Given the description of an element on the screen output the (x, y) to click on. 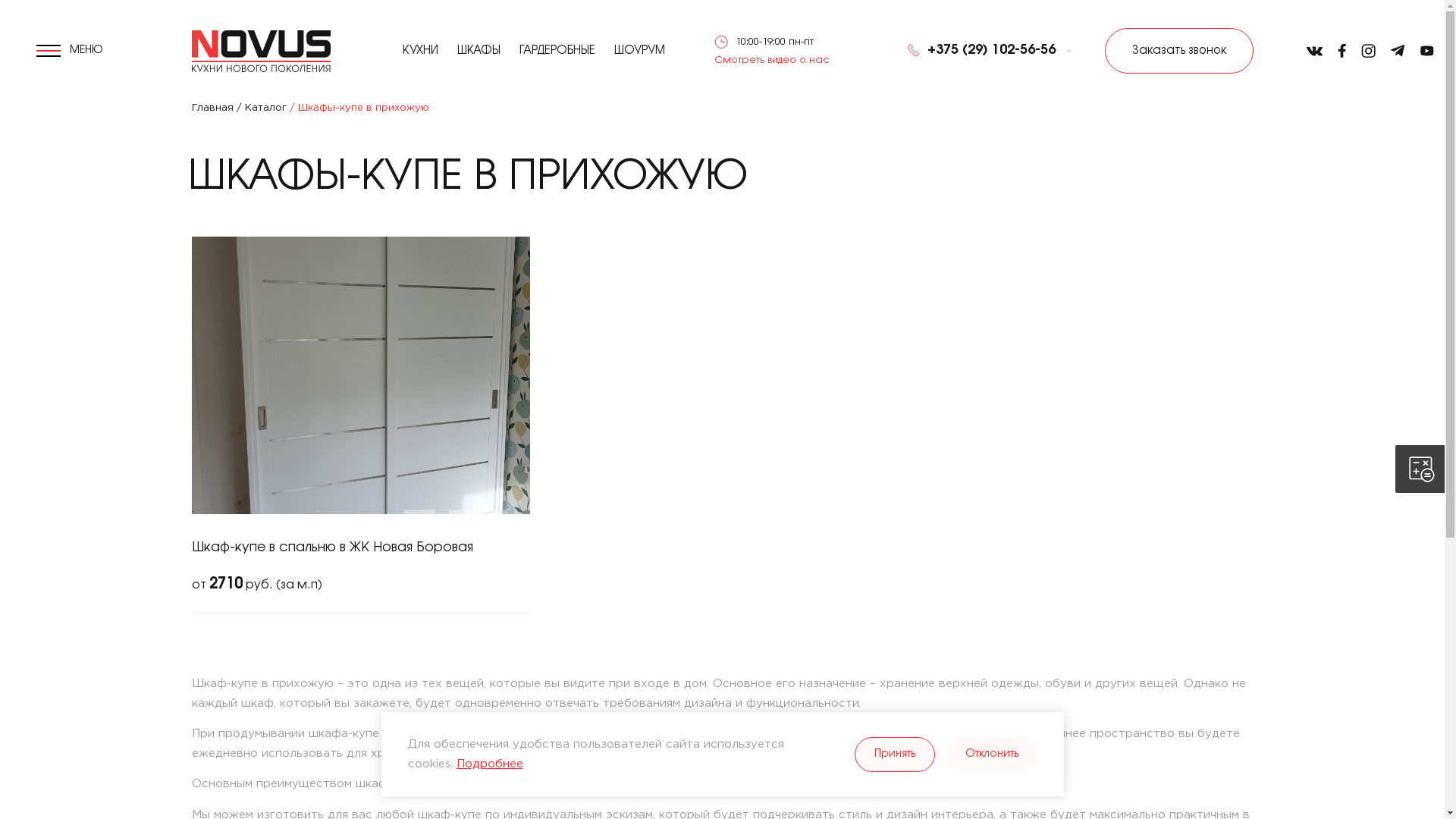
+375 (29) 102-56-56 Element type: text (979, 49)
